Given the description of an element on the screen output the (x, y) to click on. 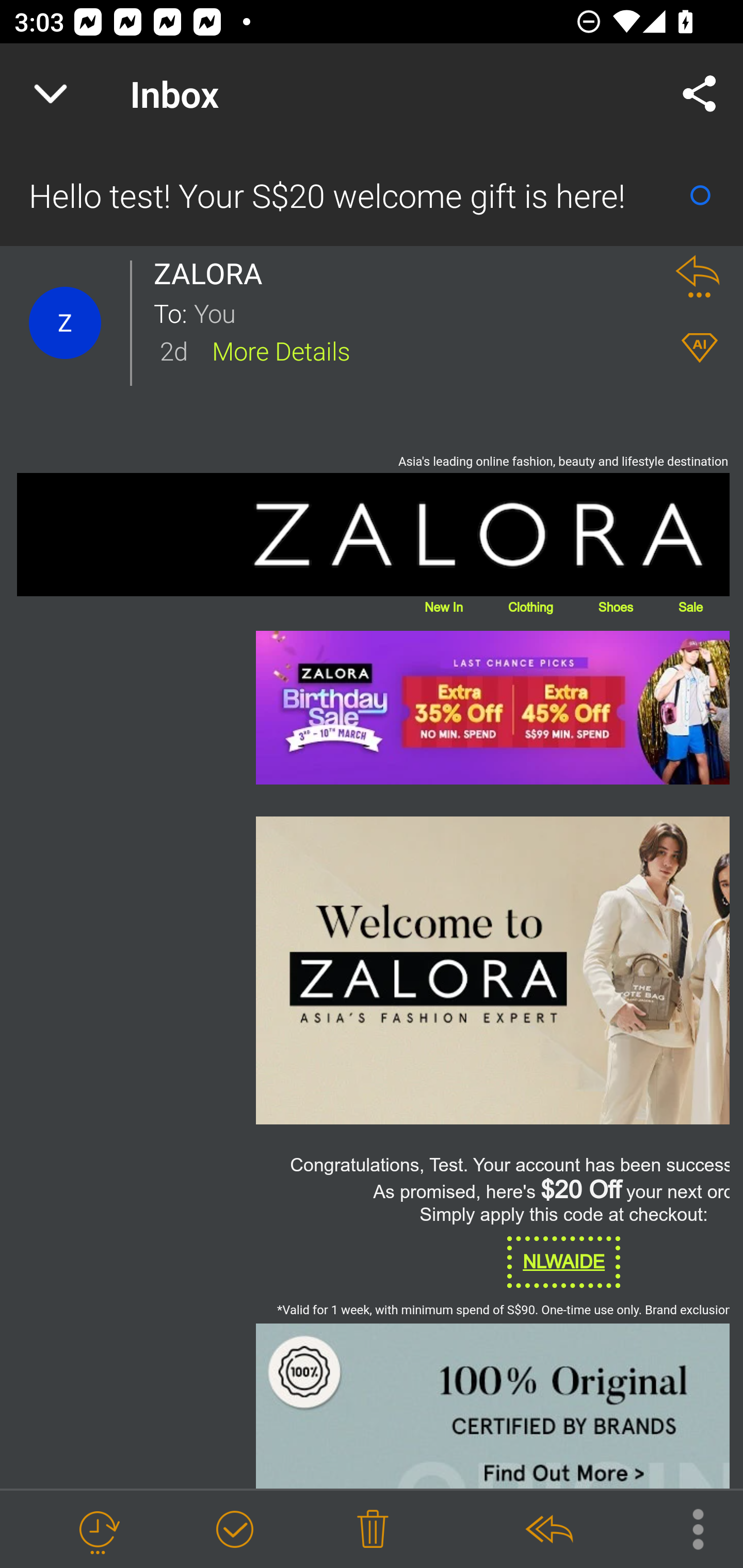
Navigate up (50, 93)
Share (699, 93)
Mark as Read (699, 194)
ZALORA (213, 273)
Contact Details (64, 322)
More Details (280, 349)
ZALORA (373, 533)
New In (442, 606)
Clothing (530, 606)
Shoes (615, 606)
Sale (690, 606)
click?upn=u001 (492, 707)
zalora (373, 969)
NLWAIDE (563, 1261)
banner_image (373, 1405)
More Options (687, 1528)
Snooze (97, 1529)
Mark as Done (234, 1529)
Delete (372, 1529)
Reply All (548, 1529)
